Given the description of an element on the screen output the (x, y) to click on. 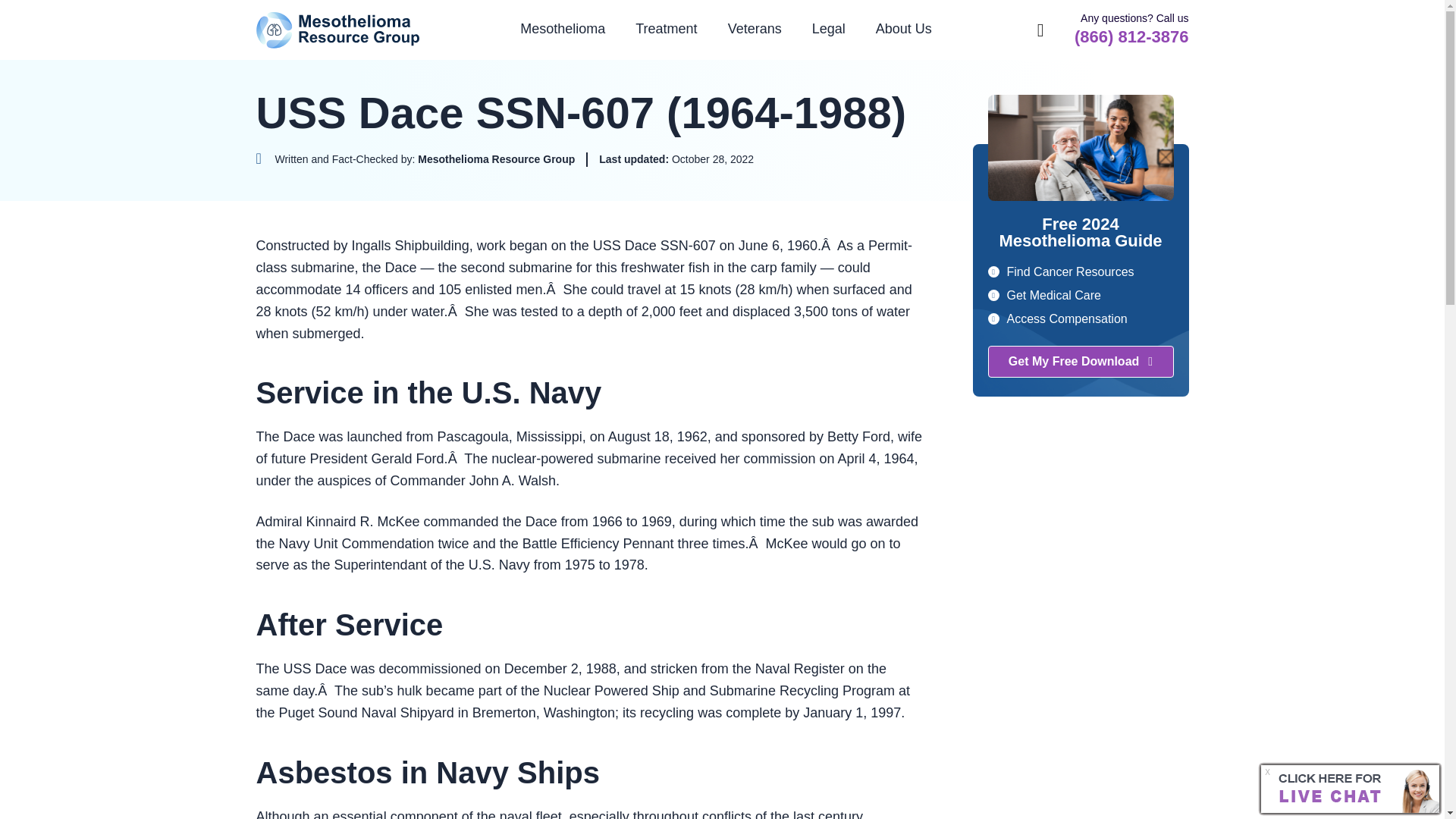
Mesothelioma (562, 28)
Treatment (665, 28)
Veterans (754, 28)
Mesothelioma Resource Group (339, 29)
Mesothelioma (562, 28)
Legal (828, 28)
About Us (903, 28)
Click to view Mesothelioma Resource Group (415, 159)
Mesothelioma Resource Group (339, 29)
Veterans (754, 28)
Treatment (665, 28)
